Given the description of an element on the screen output the (x, y) to click on. 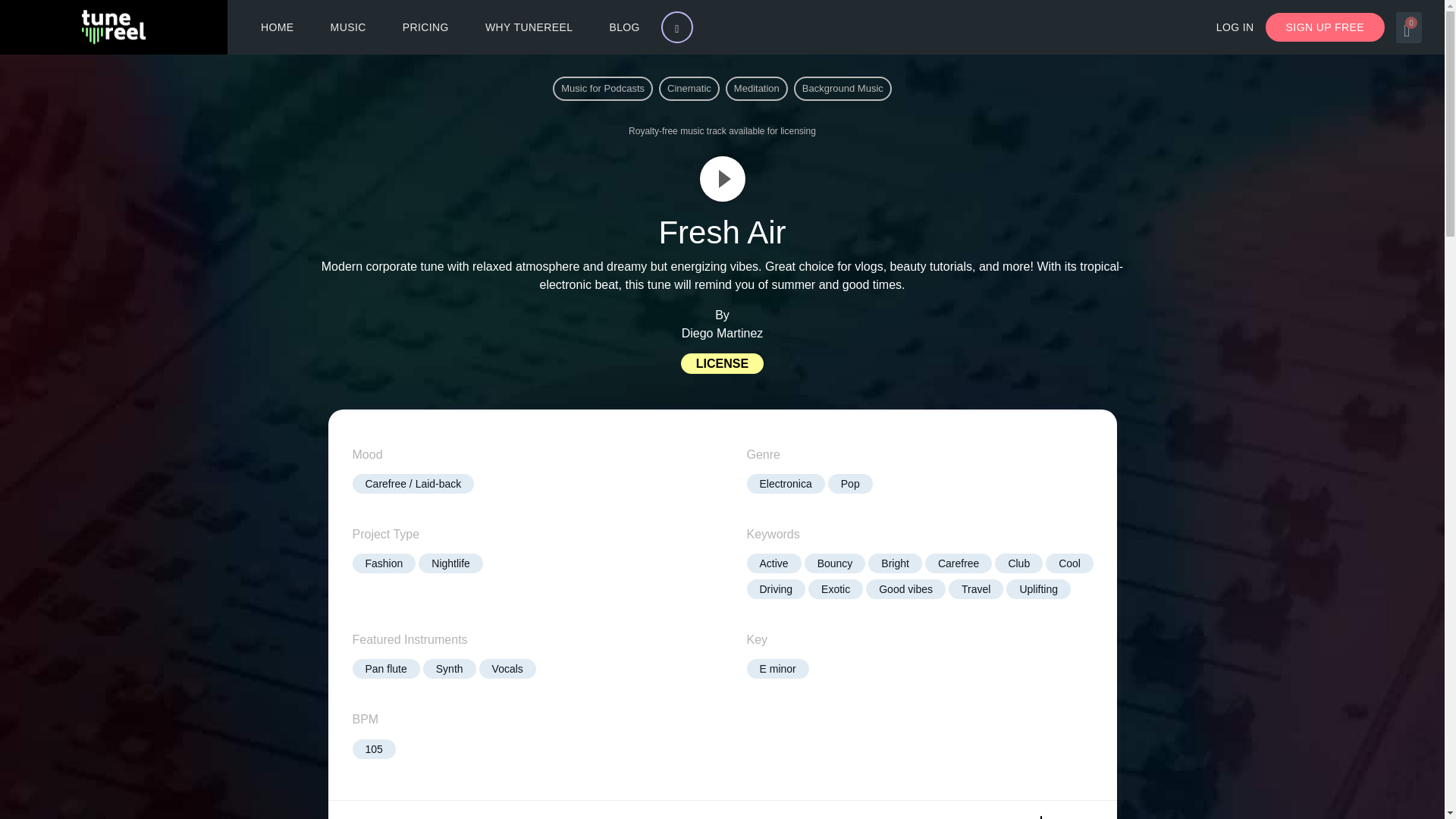
HOME (277, 27)
MUSIC (348, 27)
Download Watermarked mp3 (1040, 817)
